Given the description of an element on the screen output the (x, y) to click on. 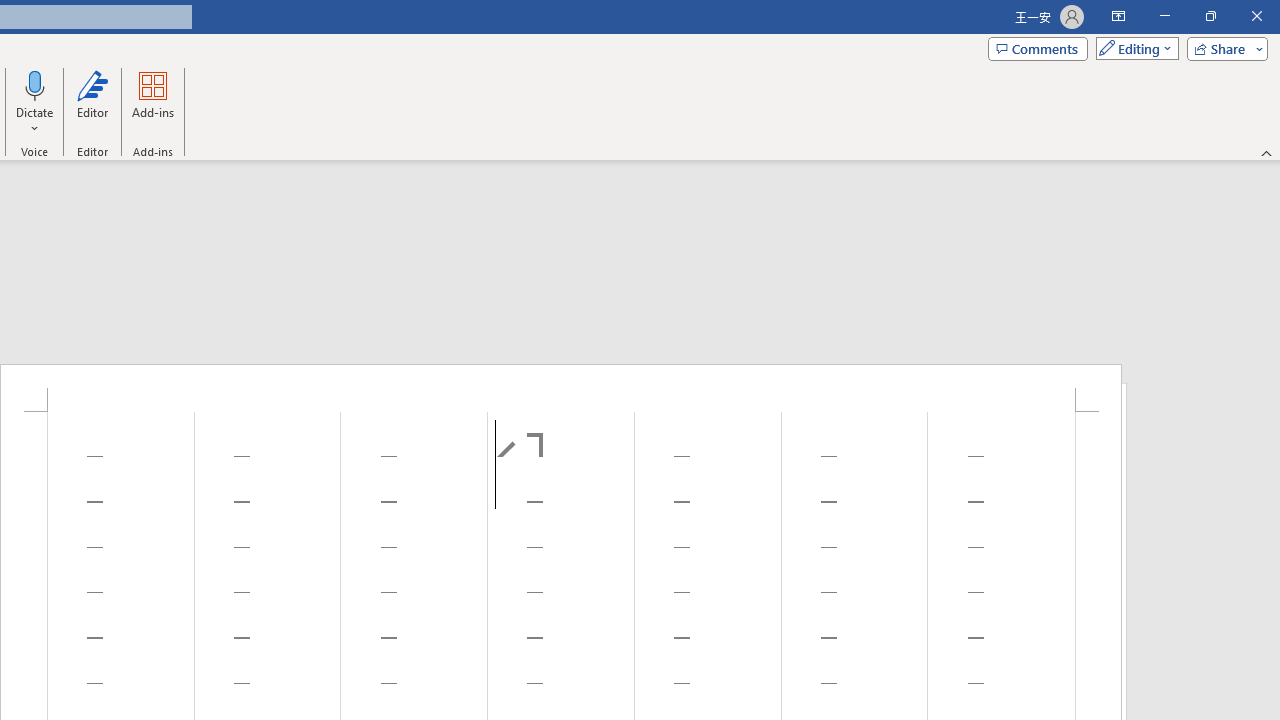
Close (1256, 16)
Restore Down (1210, 16)
Collapse the Ribbon (1267, 152)
Minimize (1164, 16)
Share (1223, 48)
Ribbon Display Options (1118, 16)
Dictate (35, 102)
Mode (1133, 47)
Comments (1038, 48)
Header -Section 1- (561, 387)
Dictate (35, 84)
Editor (92, 102)
More Options (35, 121)
